Given the description of an element on the screen output the (x, y) to click on. 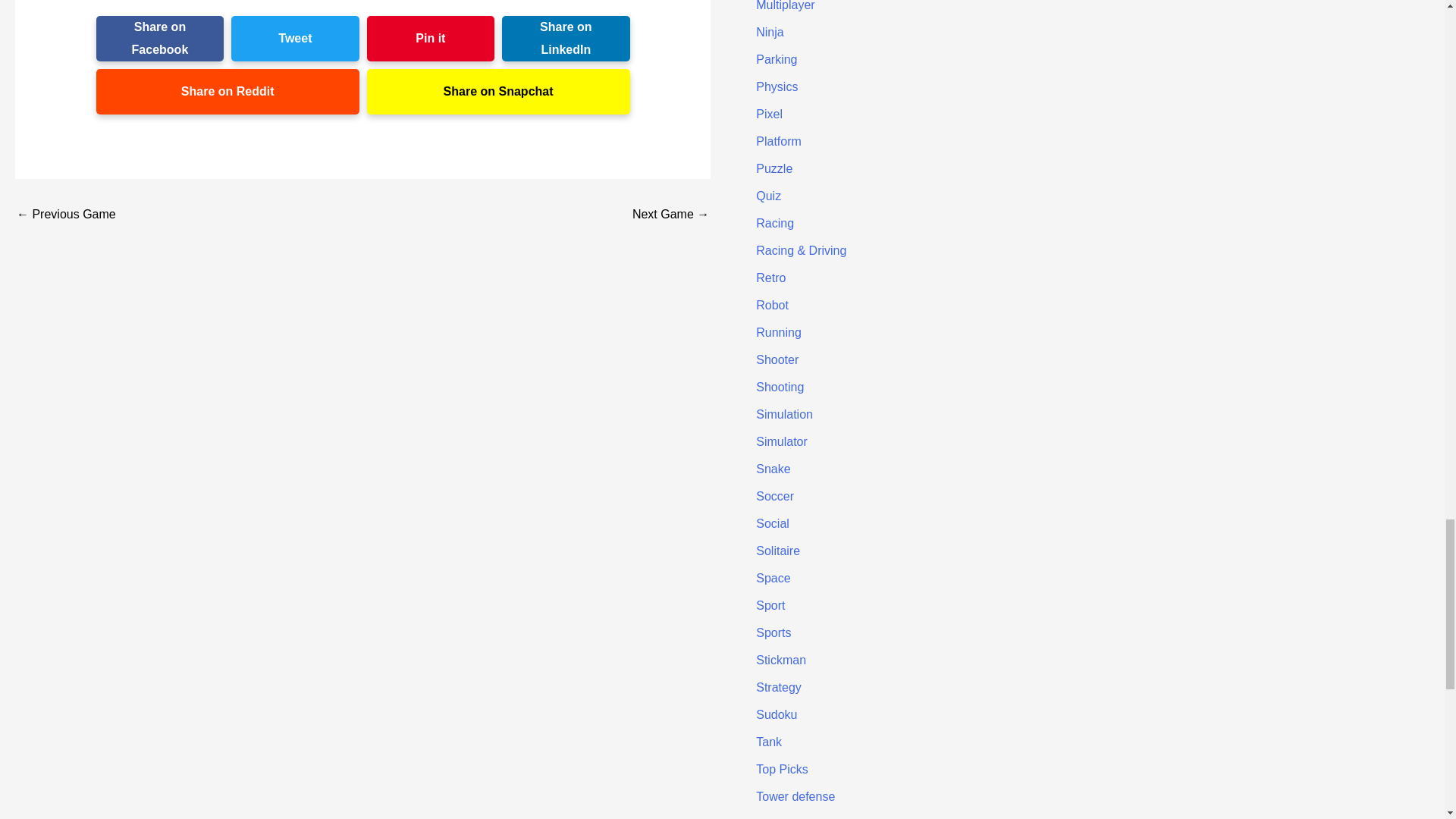
Tweet (294, 38)
Share on LinkedIn (565, 38)
Wired Chicken Inc (66, 214)
Share on Reddit (227, 91)
Share on Snapchat (498, 91)
Share on Facebook (160, 38)
Zombie Driver (670, 214)
Pin it (430, 38)
